Given the description of an element on the screen output the (x, y) to click on. 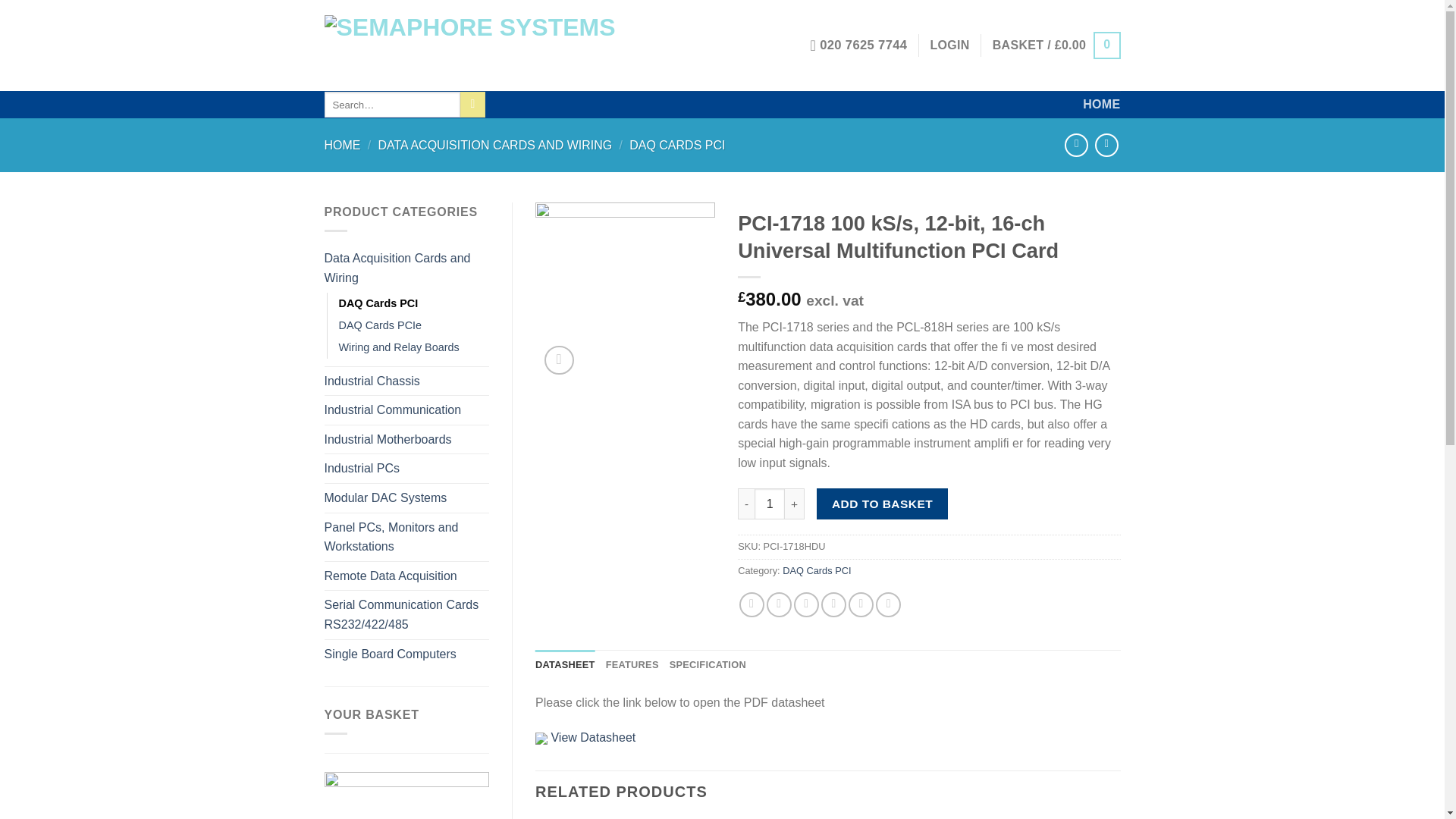
Login (949, 44)
020 7625 7744 (858, 45)
Industrial PCs (406, 468)
Email to a Friend (805, 604)
HOME (342, 144)
Industrial Chassis (406, 380)
Share on Facebook (751, 604)
Wiring and Relay Boards (397, 347)
1 (769, 503)
HOME (1101, 103)
